Given the description of an element on the screen output the (x, y) to click on. 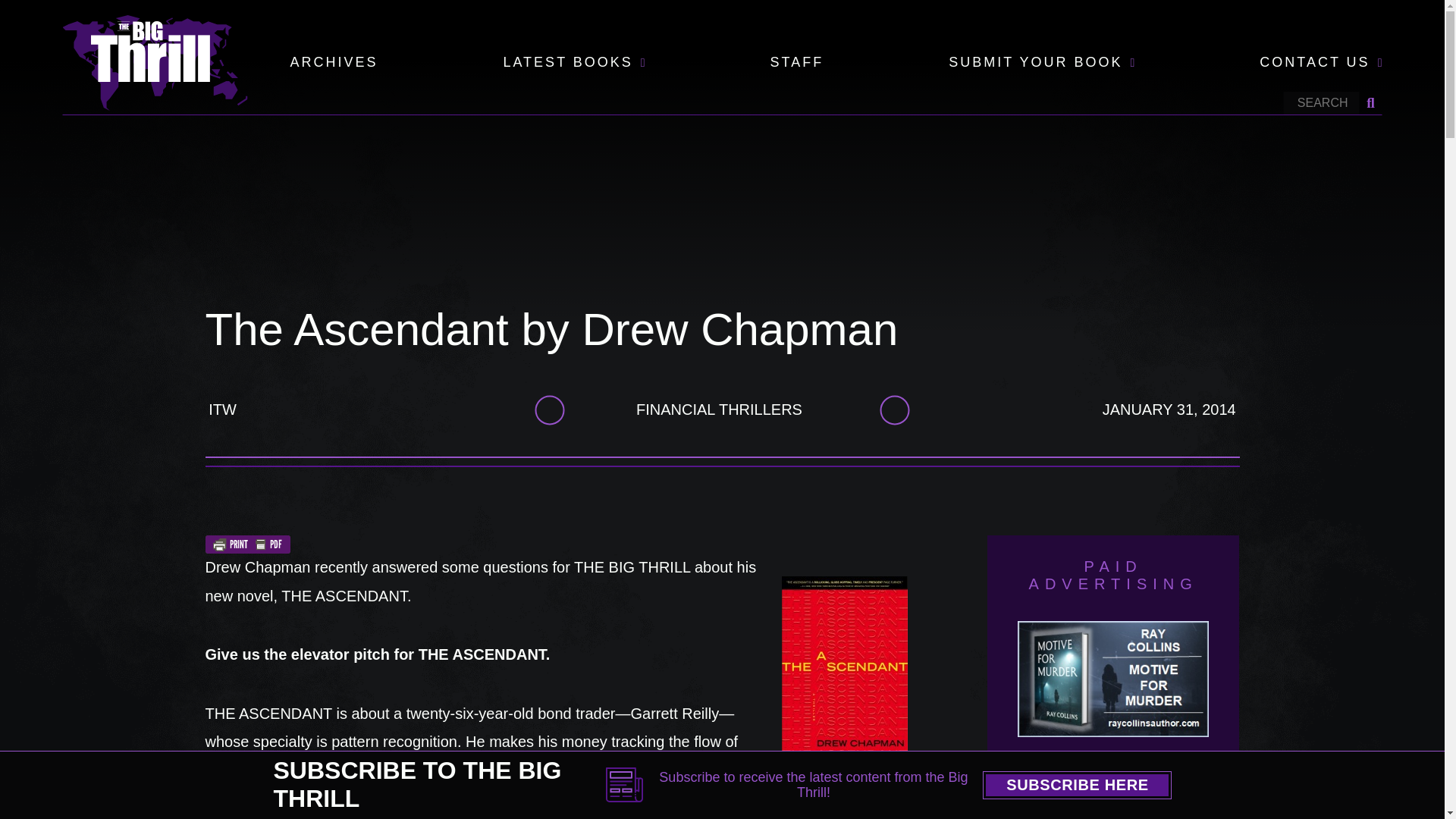
MATCH UP! In Stores Now! (1059, 800)
ARCHIVES (333, 62)
FACEOFF! In Stores Now! (1166, 800)
CONTACT US (1314, 62)
SUBMIT YOUR BOOK (1035, 62)
Motive for Murder by Ray Collins (1113, 690)
STAFF (797, 62)
LATEST BOOKS (566, 62)
